Given the description of an element on the screen output the (x, y) to click on. 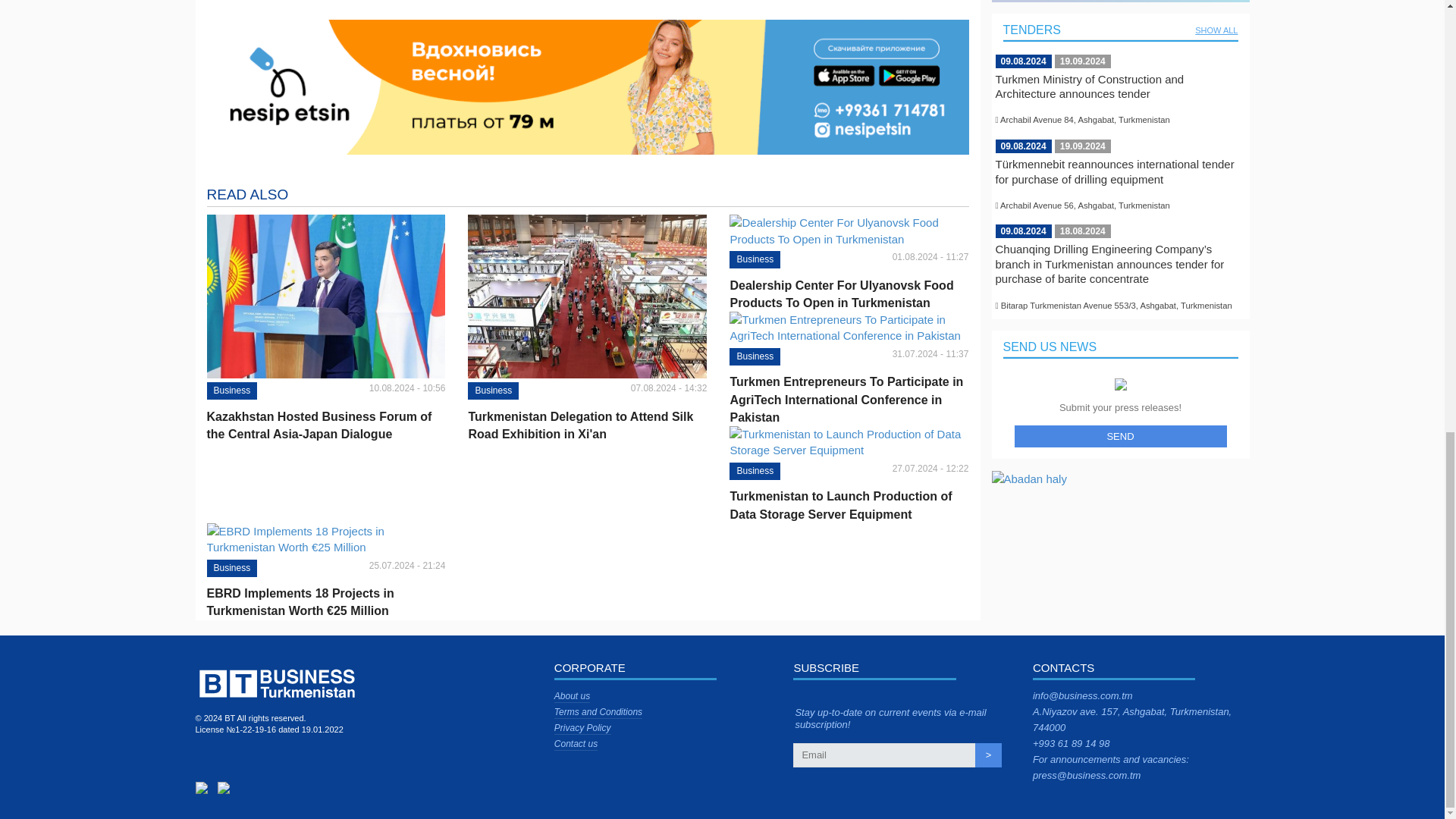
Business (754, 356)
Business (754, 470)
Business (492, 390)
